Given the description of an element on the screen output the (x, y) to click on. 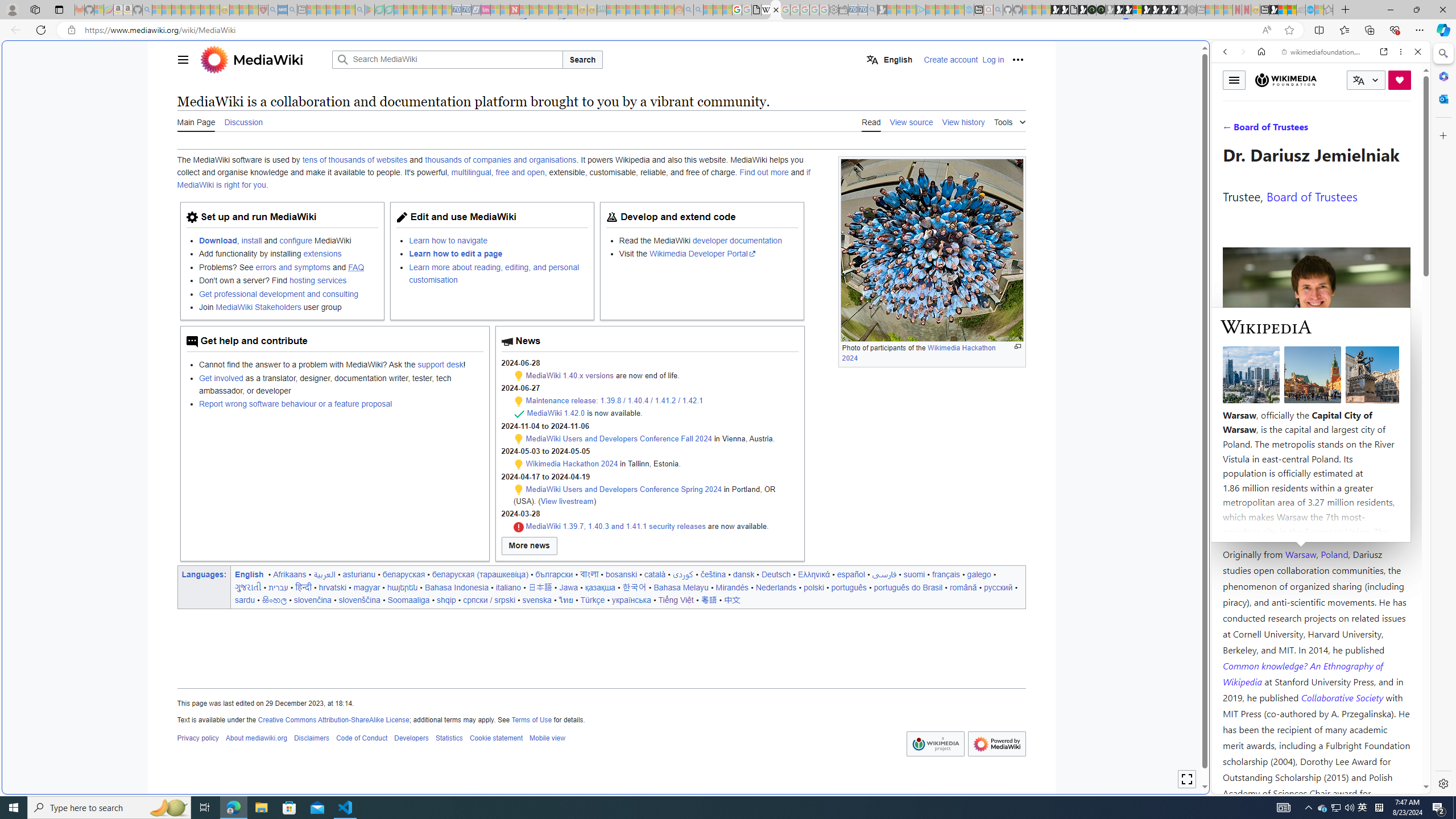
Future Focus Report 2024 (1100, 9)
Powered by MediaWiki (996, 743)
shqip (445, 599)
Bahasa Melayu (681, 587)
Cookie statement (495, 738)
